Given the description of an element on the screen output the (x, y) to click on. 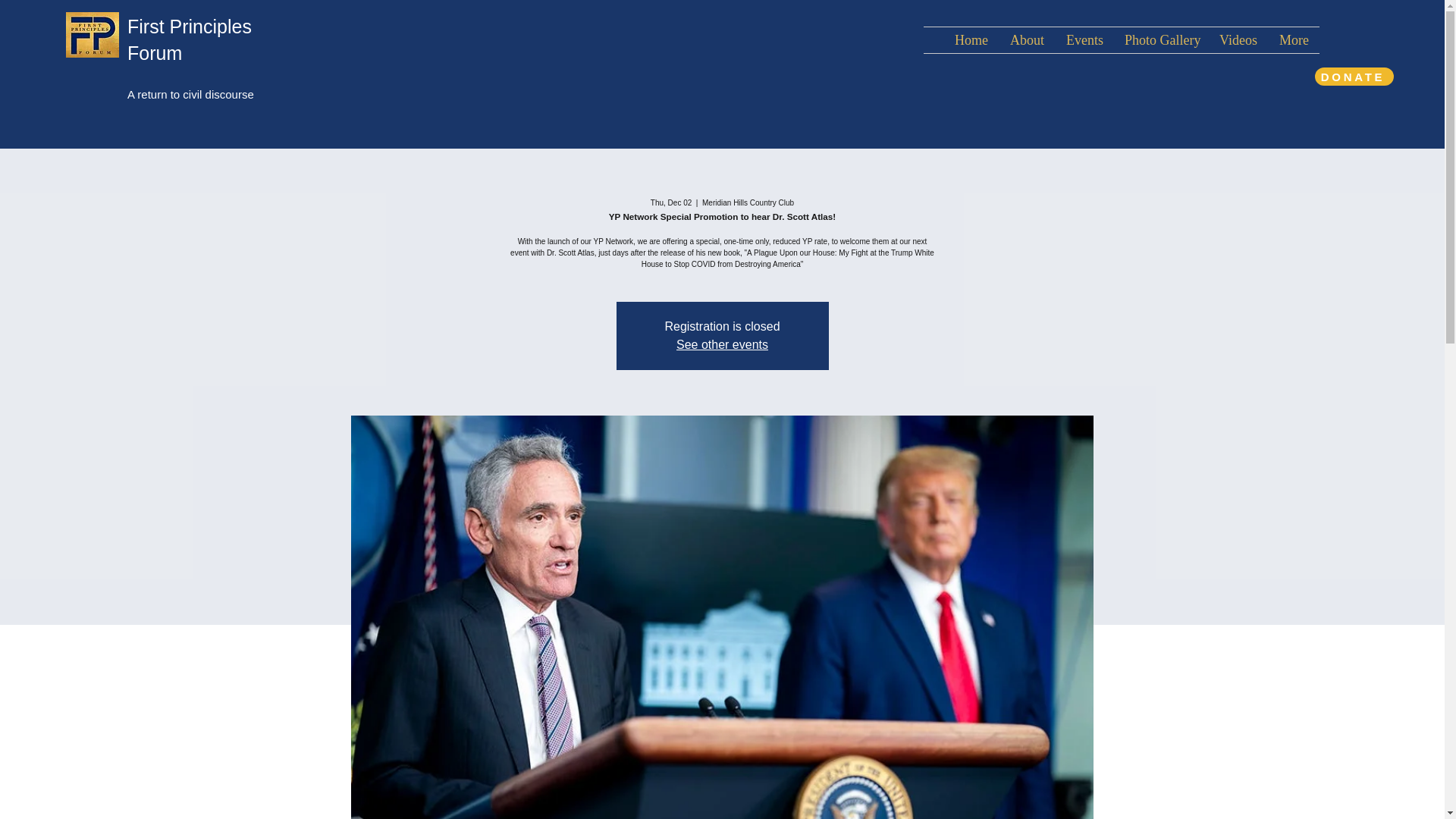
Videos (1238, 40)
Home (970, 40)
Photo Gallery (1160, 40)
DONATE (1353, 76)
About (1026, 40)
First Principles Forum (189, 39)
See other events (722, 344)
Events (1083, 40)
